Given the description of an element on the screen output the (x, y) to click on. 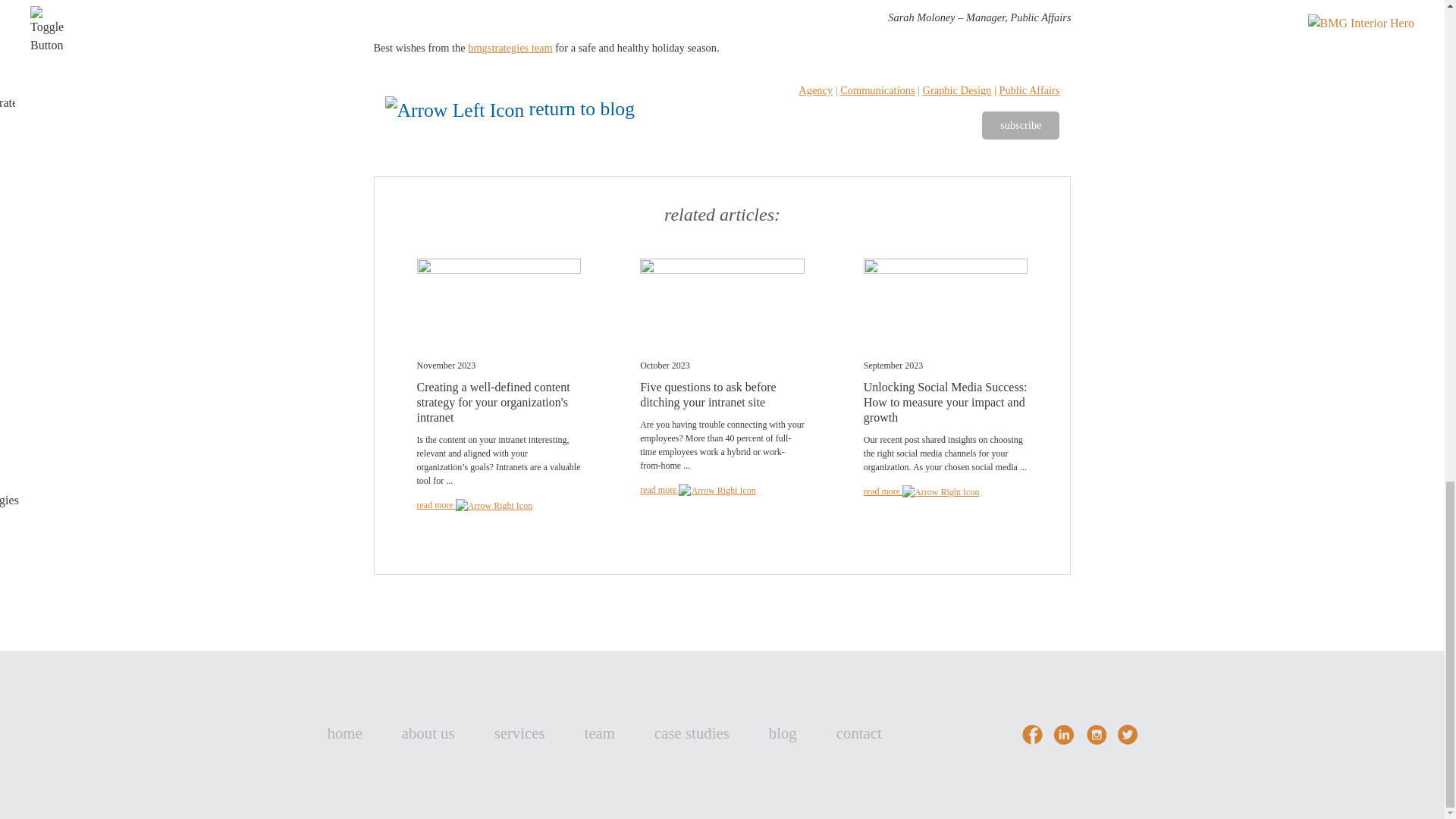
bmgstrategies team (510, 47)
Communications (877, 90)
blog (782, 732)
subscribe (1020, 125)
Agency (814, 90)
team (599, 732)
Public Affairs (1028, 90)
contact (858, 732)
home (344, 732)
return to blog (509, 108)
